Given the description of an element on the screen output the (x, y) to click on. 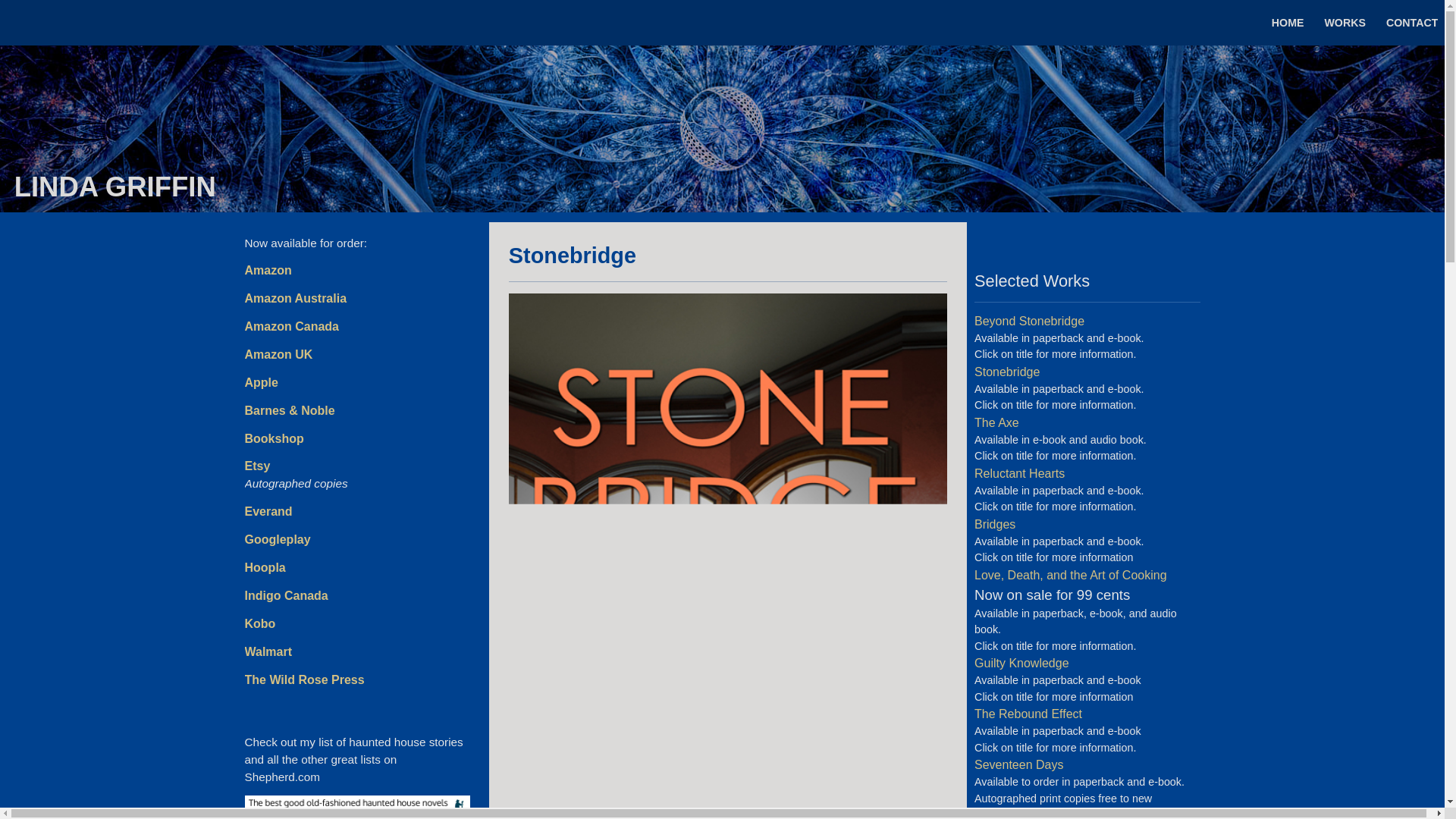
The Axe (996, 422)
Bookshop (273, 438)
Amazon Australia (295, 297)
Reluctant Hearts (1019, 472)
Everand (268, 511)
WORKS (1344, 22)
Amazon UK (278, 354)
Indigo Canada (285, 594)
The Rebound Effect (1027, 713)
Hoopla (264, 567)
